Given the description of an element on the screen output the (x, y) to click on. 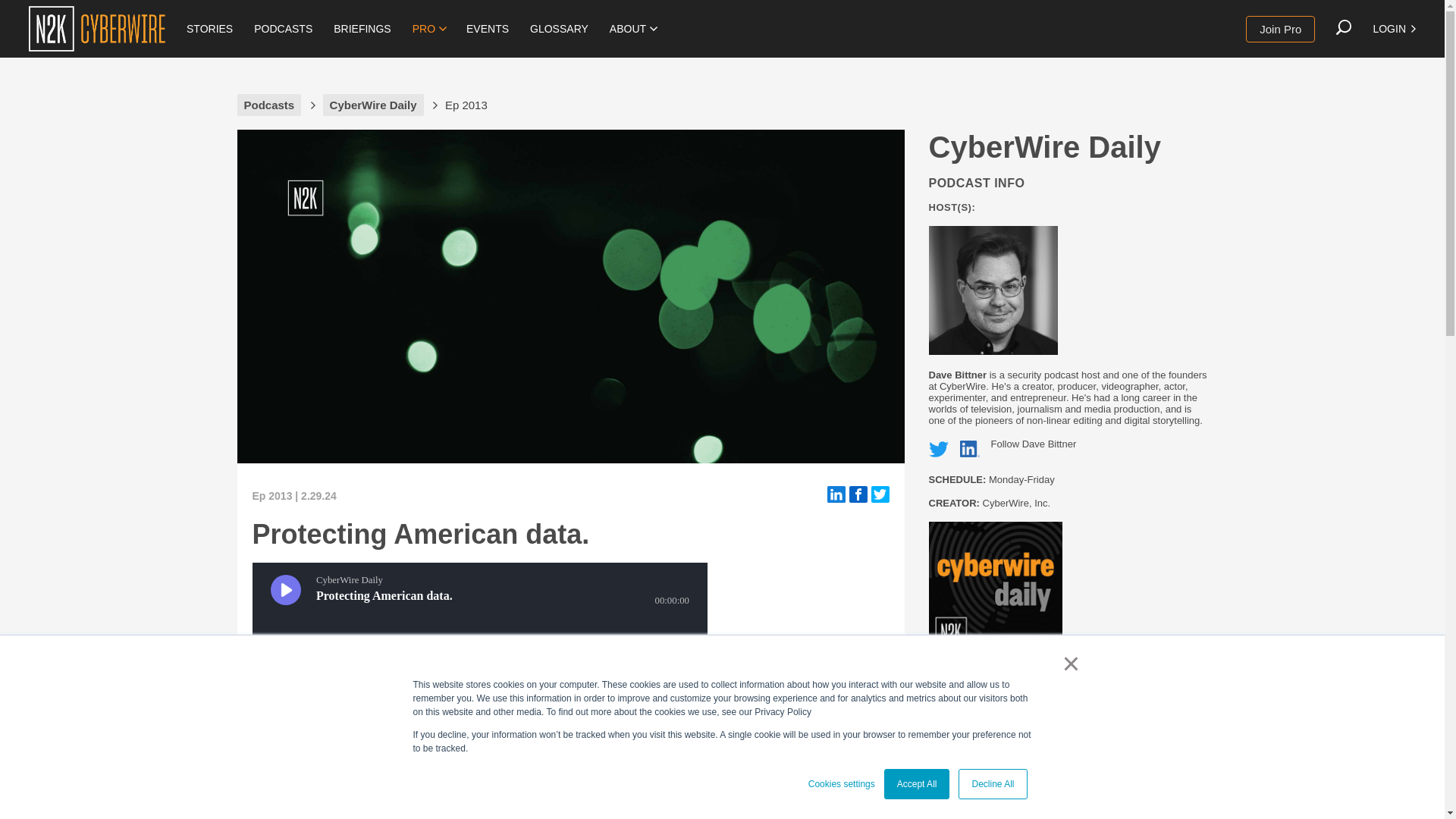
RSS (560, 773)
Cookies settings (841, 784)
Accept All (916, 784)
Join Pro (1280, 28)
GLOSSARY (558, 28)
Megaphone audio player. (478, 638)
Decline All (992, 784)
Castbox (493, 773)
PODCASTS (283, 28)
Overcast (422, 773)
BRIEFINGS (362, 28)
Apple Podcasts (262, 773)
Spotify (360, 773)
STORIES (209, 28)
Search the site (1343, 27)
